Given the description of an element on the screen output the (x, y) to click on. 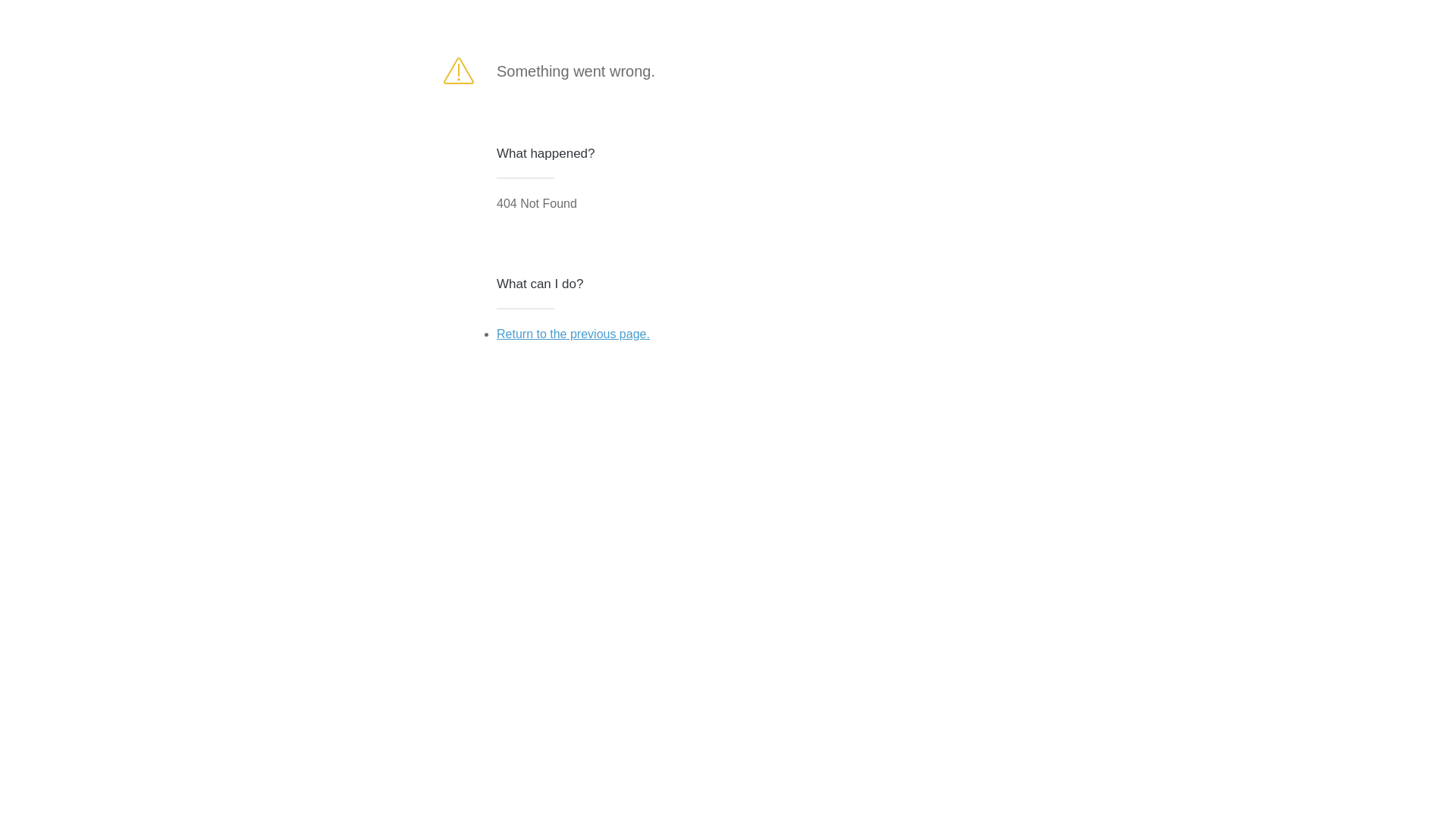
Return to the previous page. Element type: text (572, 333)
